Given the description of an element on the screen output the (x, y) to click on. 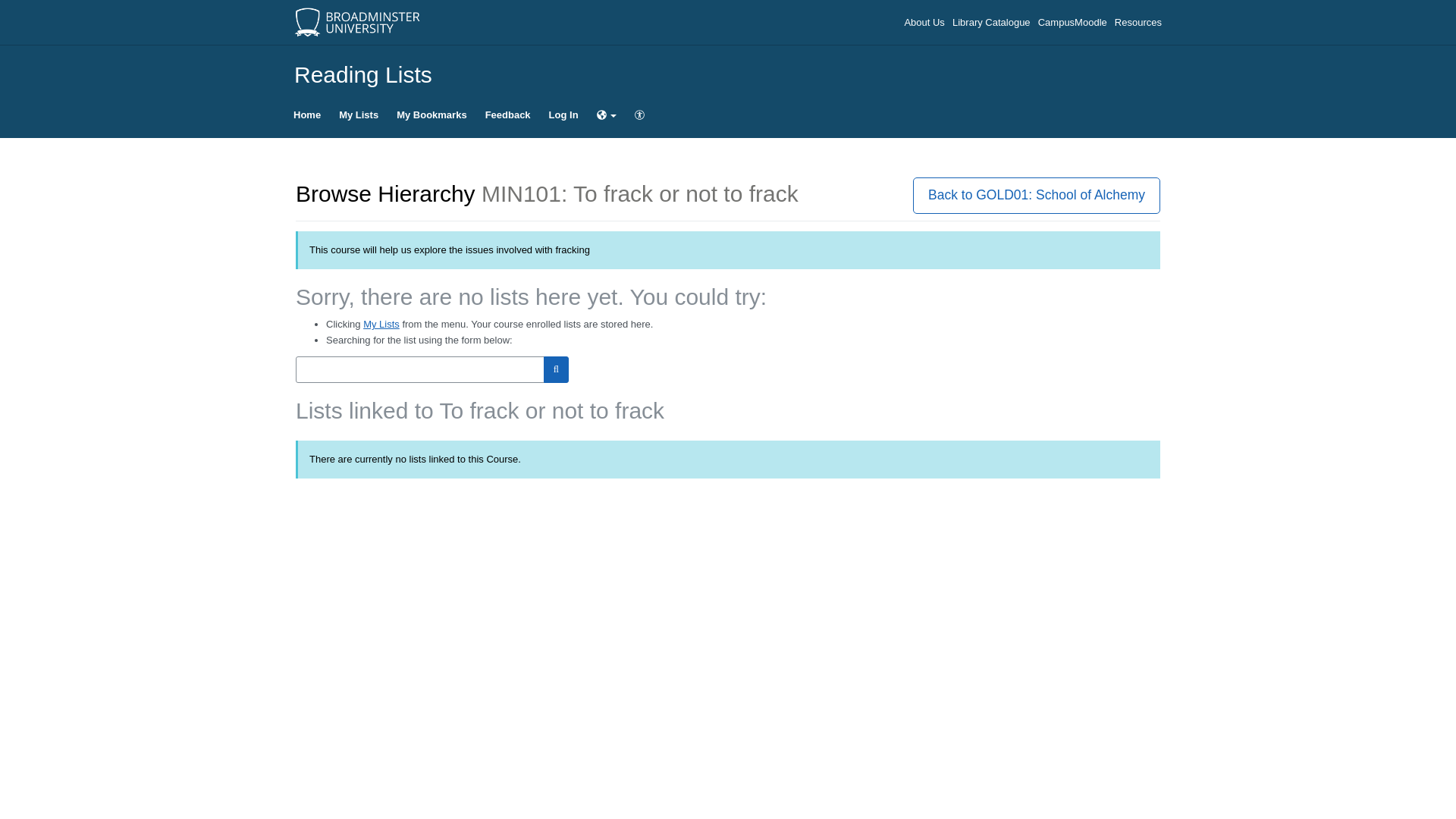
Search (556, 369)
Log In (564, 115)
My Lists (358, 115)
My Bookmarks (431, 115)
Library Catalogue (992, 21)
Resources (1138, 21)
My Lists (380, 324)
Back to GOLD01: School of Alchemy (1036, 194)
About Us (925, 21)
CampusMoodle (1073, 21)
